Given the description of an element on the screen output the (x, y) to click on. 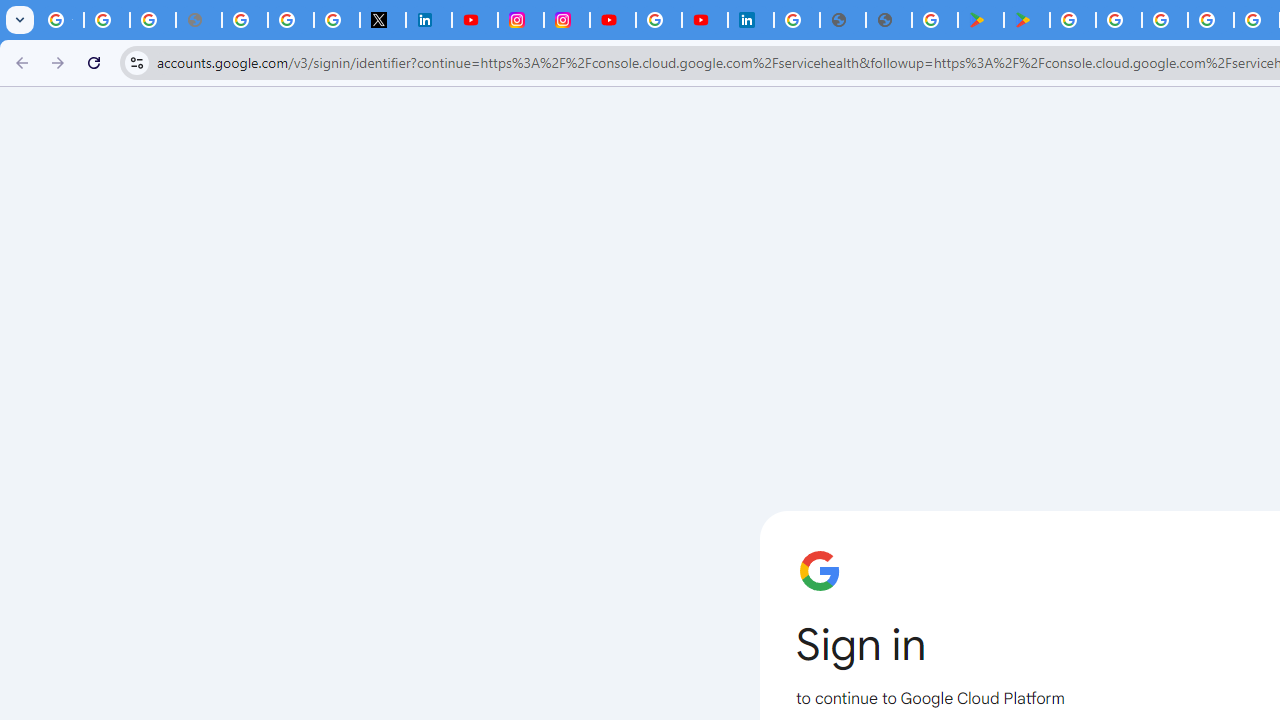
LinkedIn Privacy Policy (428, 20)
PAW Patrol Rescue World - Apps on Google Play (1026, 20)
Sign in - Google Accounts (290, 20)
Google Workspace - Specific Terms (1210, 20)
Sign in - Google Accounts (659, 20)
User Details (889, 20)
